Given the description of an element on the screen output the (x, y) to click on. 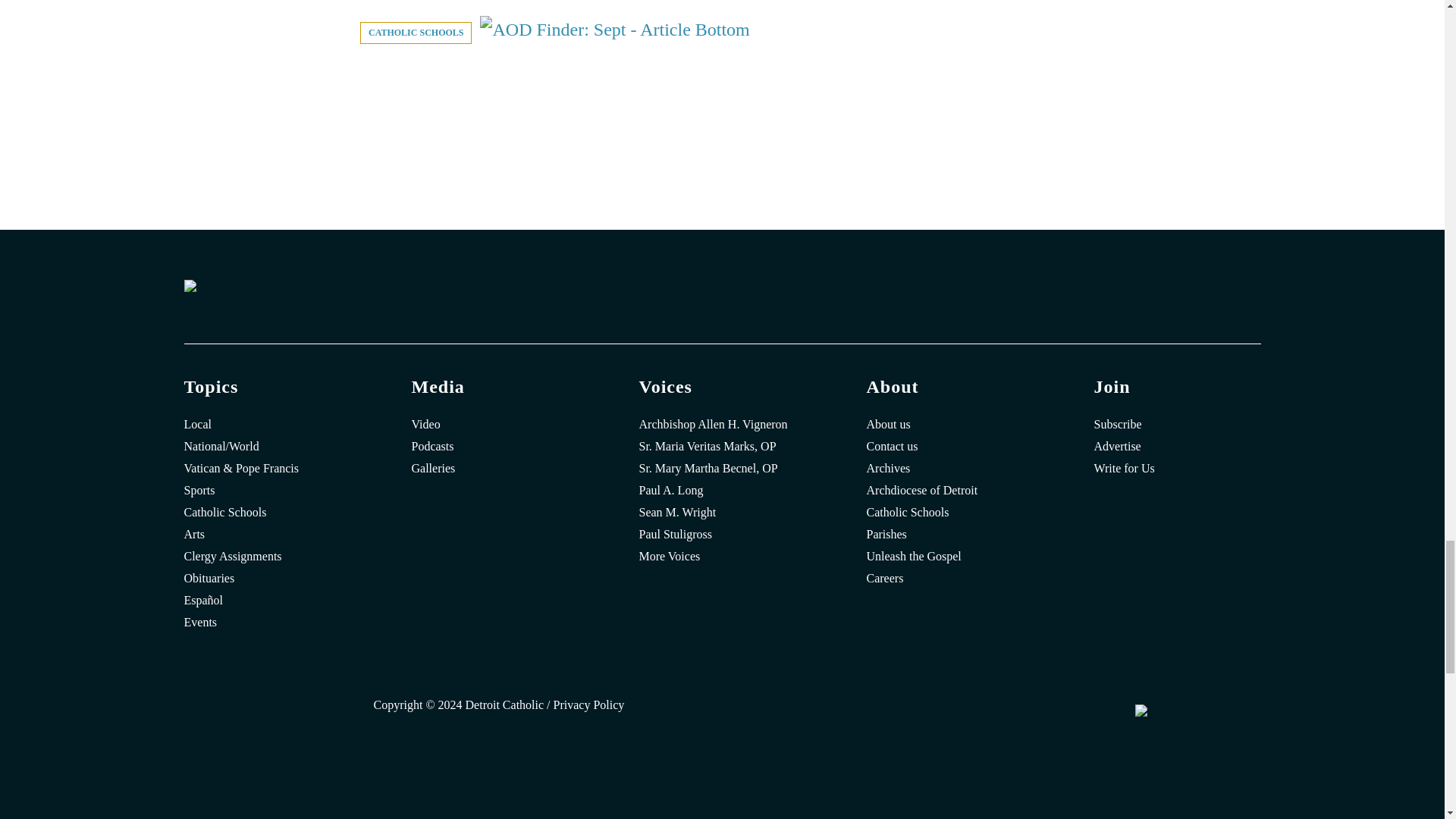
Catholic Schools (266, 512)
Clergy Assignments (266, 556)
CATHOLIC SCHOOLS (415, 33)
Obituaries (266, 578)
Events (266, 622)
Sports (266, 490)
Arts (266, 534)
Local (266, 424)
AOD Finder: Sept - Article Bottom (614, 29)
